Given the description of an element on the screen output the (x, y) to click on. 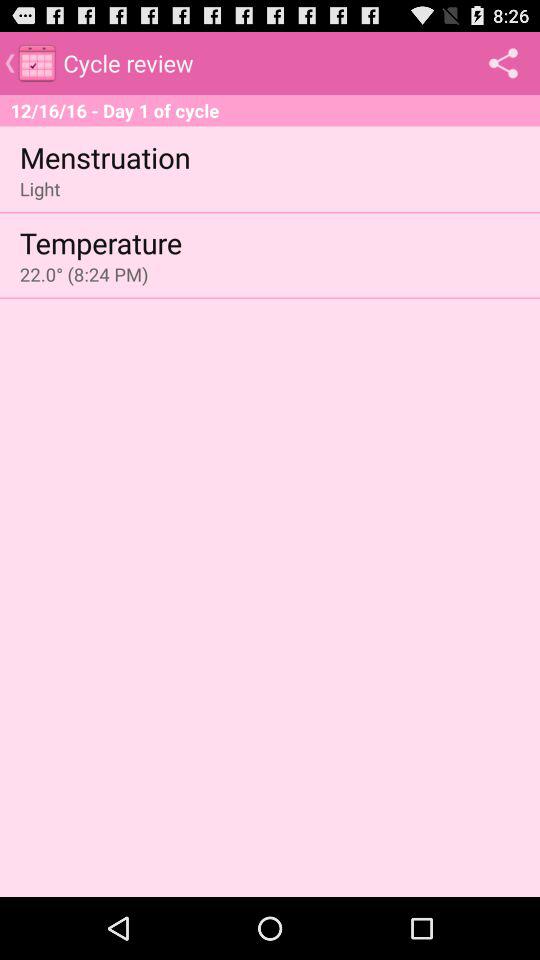
turn off the app to the right of the cycle review (503, 62)
